Given the description of an element on the screen output the (x, y) to click on. 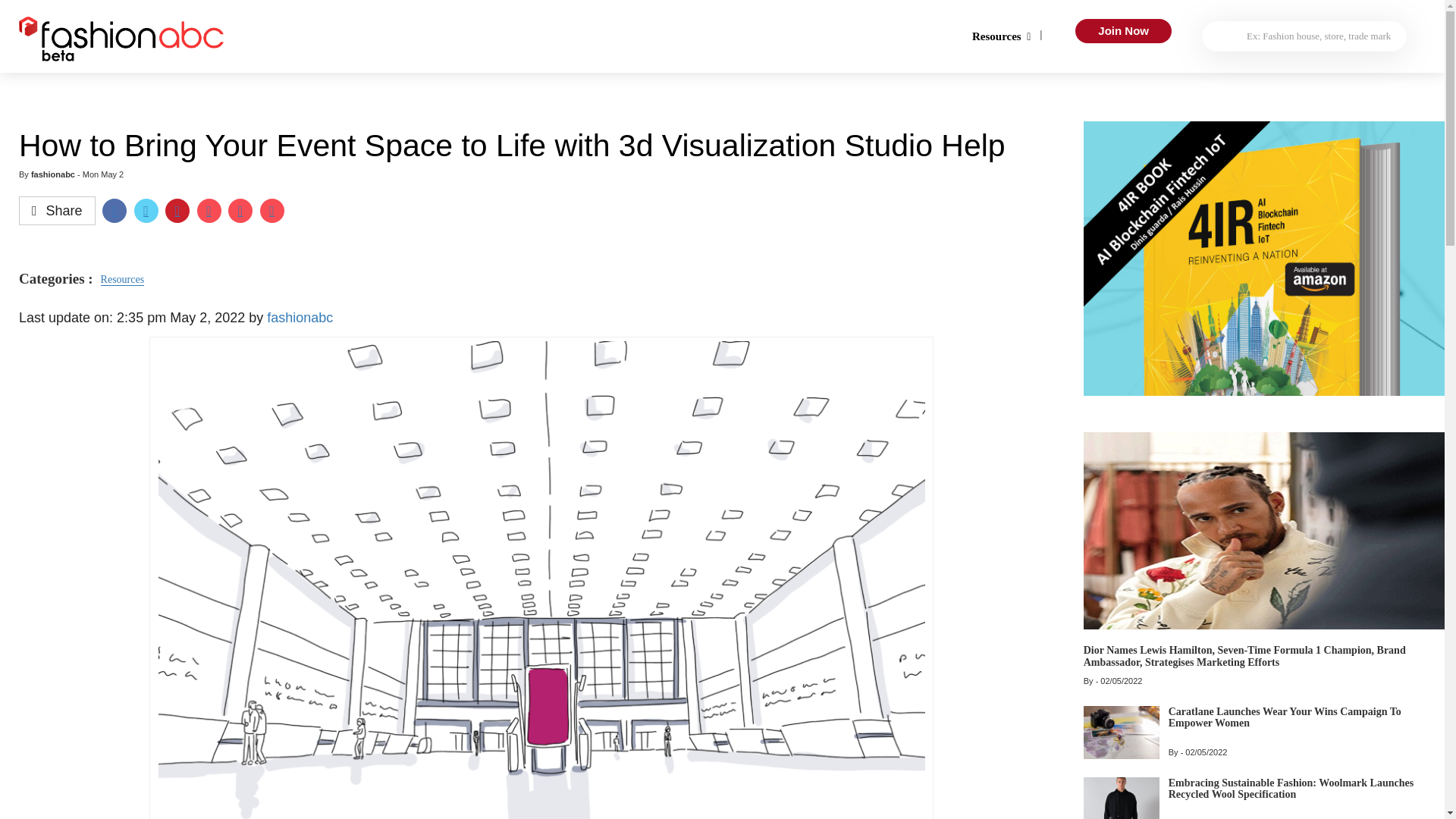
Sign in (721, 133)
Resources (997, 36)
fashionabc (52, 174)
Join Now (1123, 30)
